Given the description of an element on the screen output the (x, y) to click on. 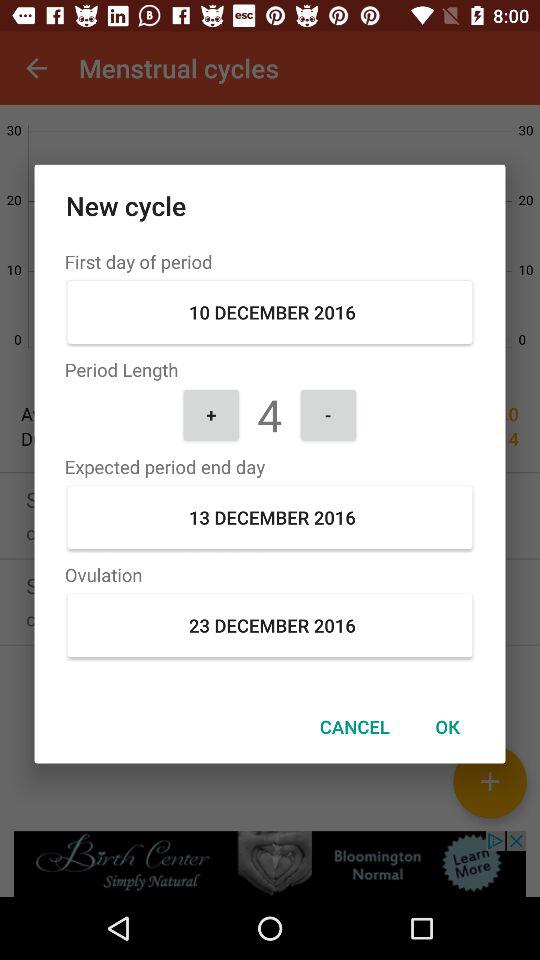
turn off icon next to 4 item (211, 414)
